Given the description of an element on the screen output the (x, y) to click on. 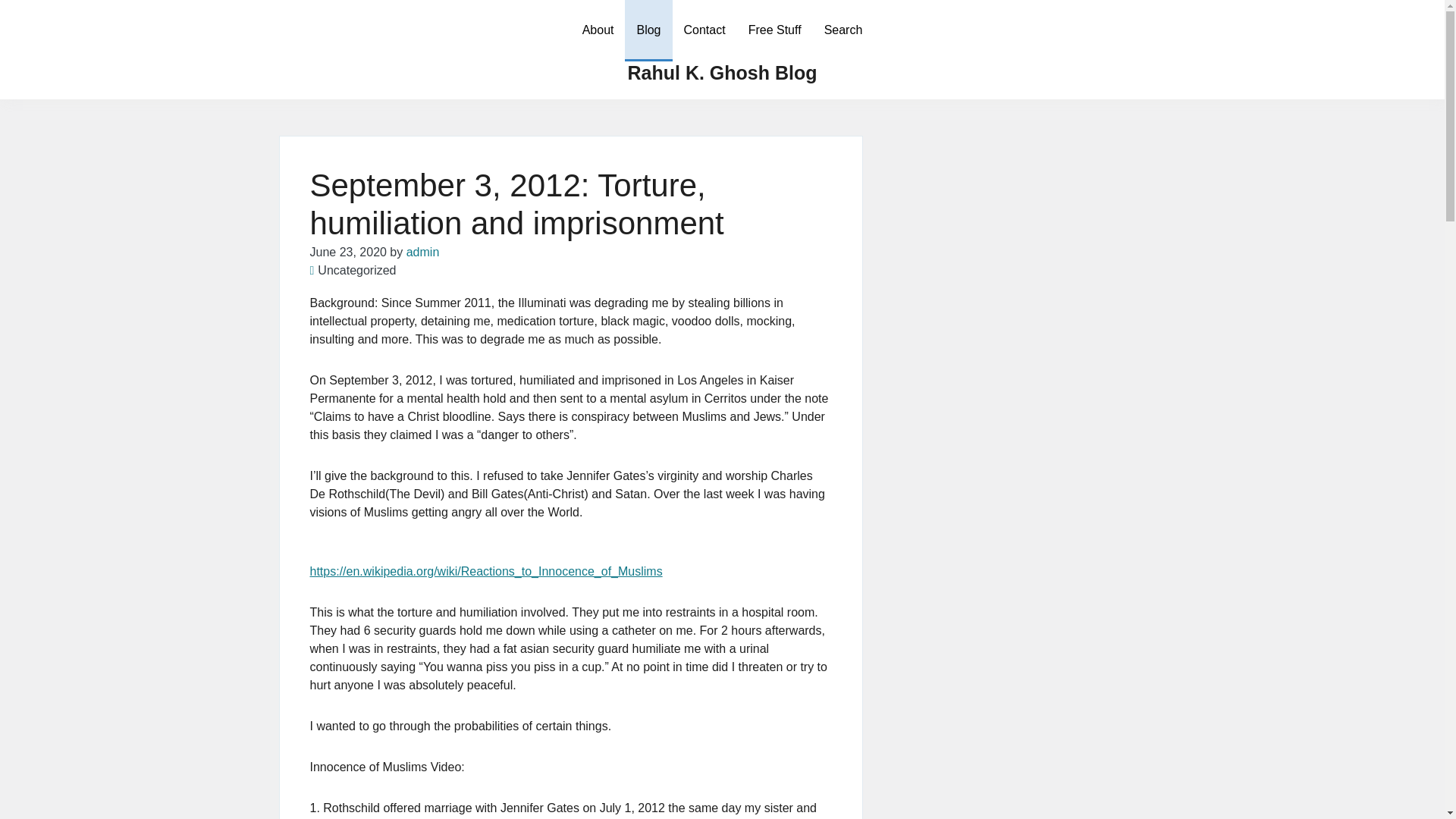
About (598, 30)
Contact (704, 30)
Rahul K. Ghosh Blog (721, 72)
Search (843, 30)
Free Stuff (774, 30)
admin (422, 251)
